Given the description of an element on the screen output the (x, y) to click on. 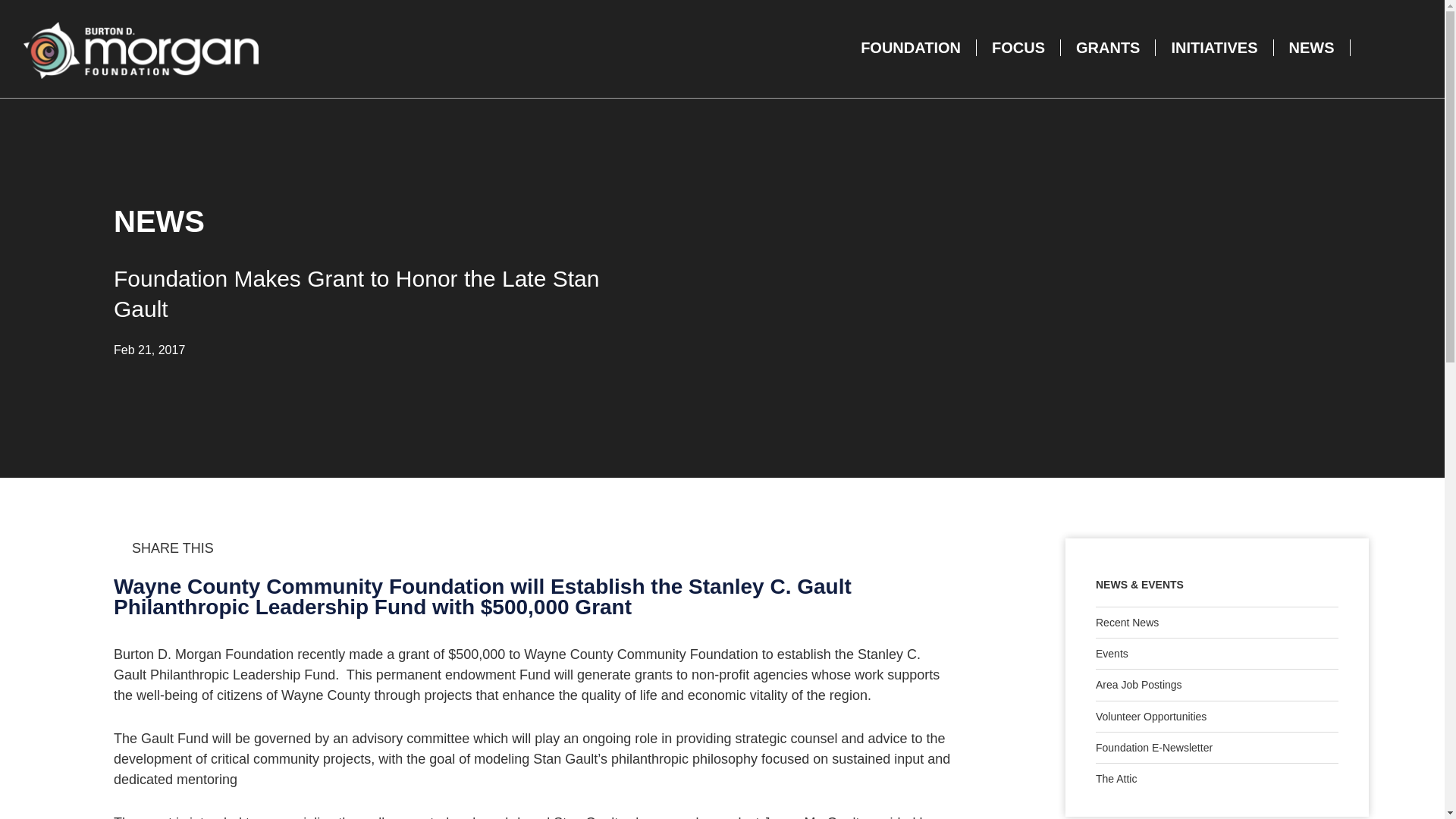
Volunteer Opportunities (1217, 716)
Area Job Postings (1217, 684)
Tuesday, February 21, 2017 - 19:00 (148, 349)
Skip to main content (108, 50)
Foundation E-Newsletter (1217, 747)
Recent News (1217, 622)
Events (1217, 653)
The Attic (1217, 778)
SEARCH (1381, 47)
